Given the description of an element on the screen output the (x, y) to click on. 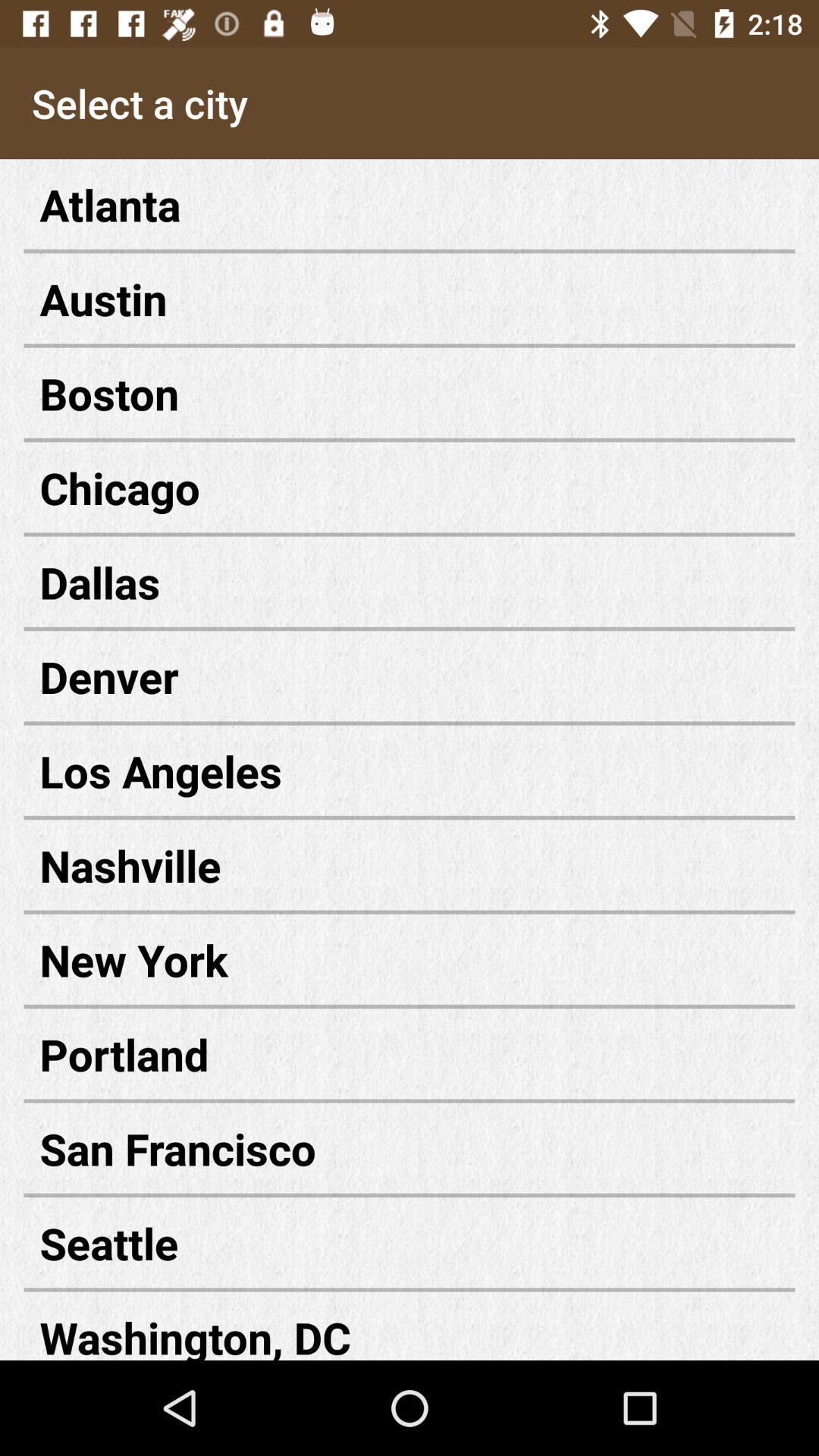
choose icon above nashville icon (409, 770)
